Given the description of an element on the screen output the (x, y) to click on. 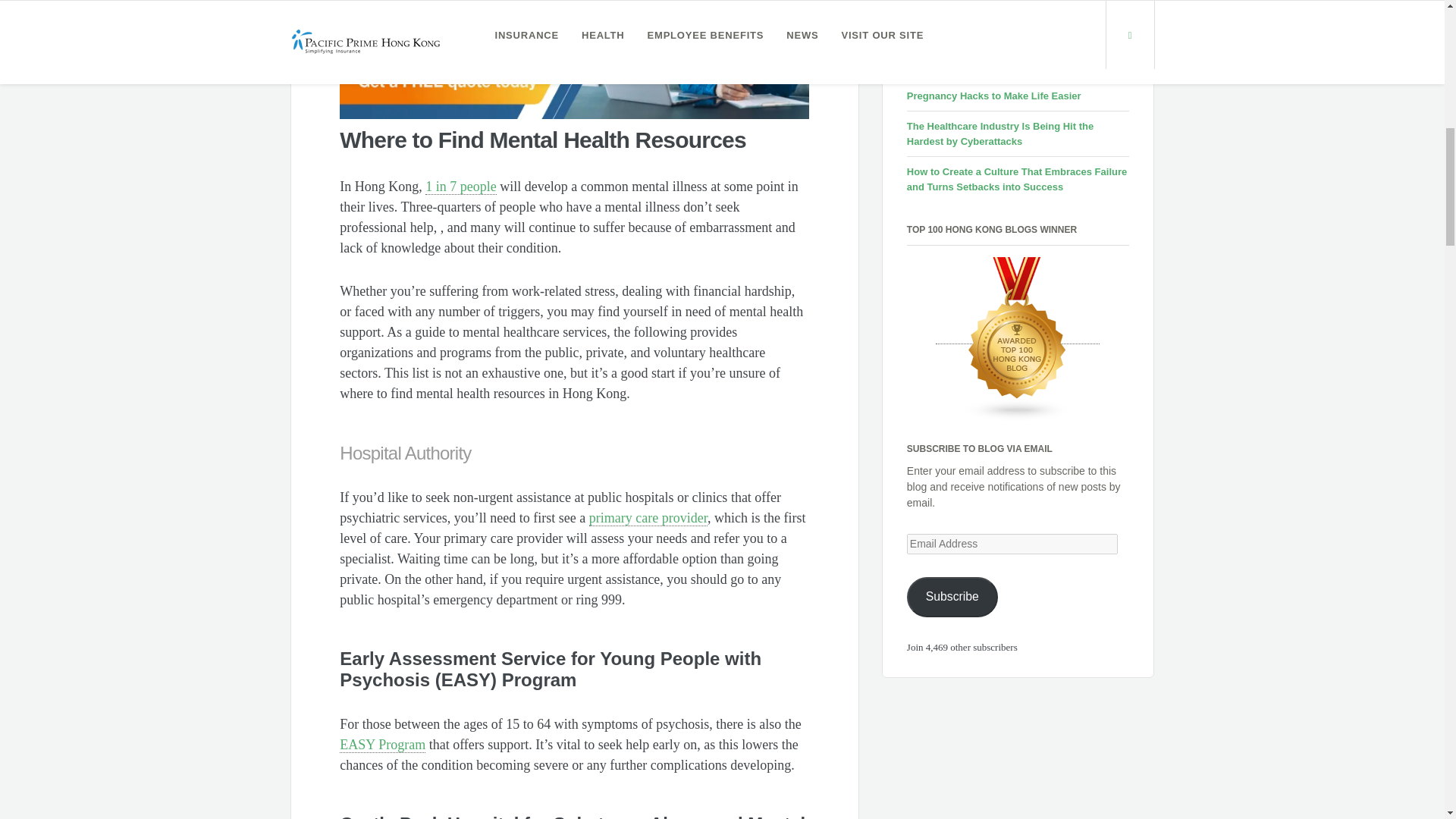
1 in 7 people (460, 186)
Hong Kong blogs (1017, 337)
EASY Program (382, 744)
primary care provider (648, 518)
